Given the description of an element on the screen output the (x, y) to click on. 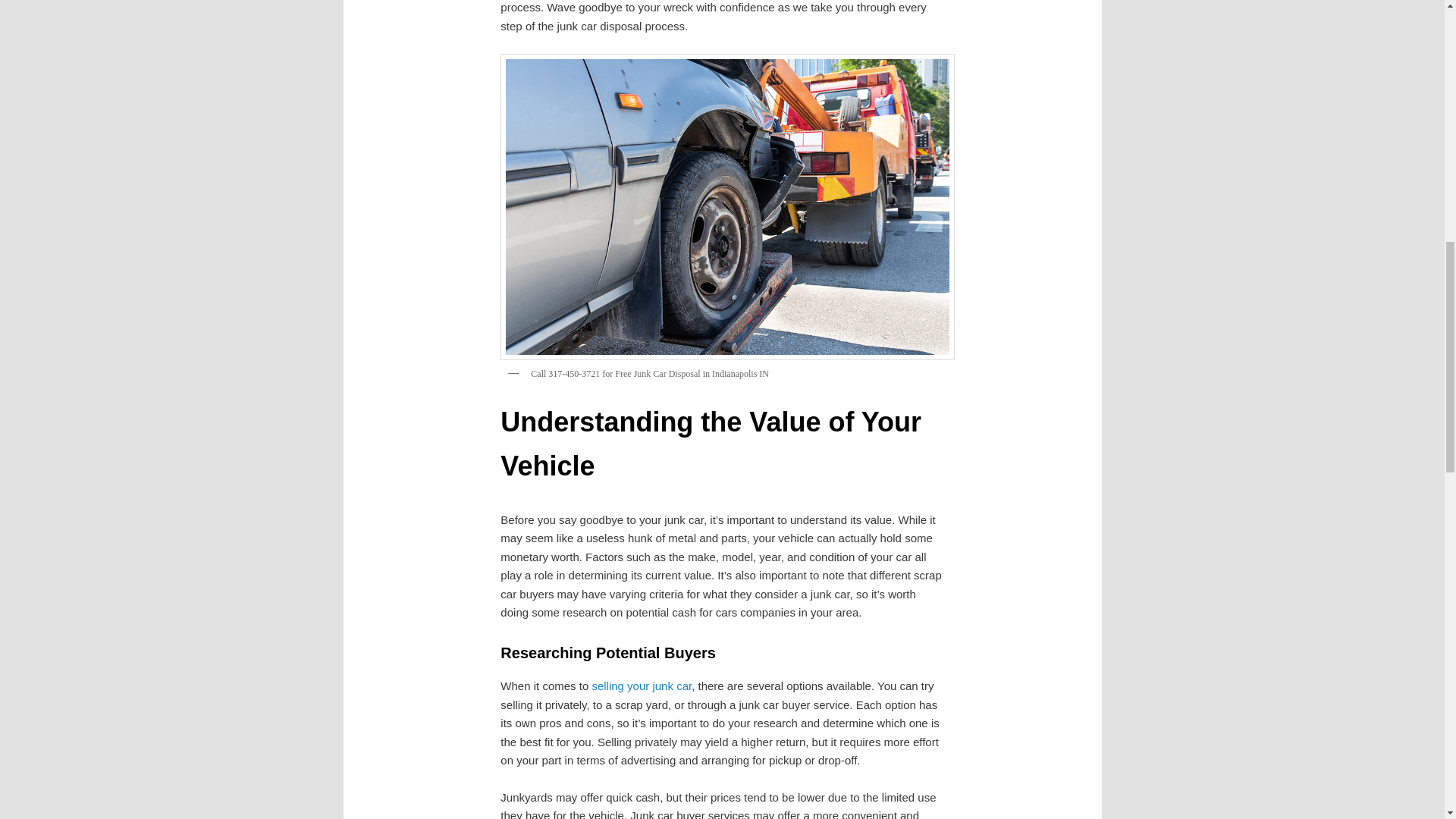
selling your junk car (641, 685)
